Given the description of an element on the screen output the (x, y) to click on. 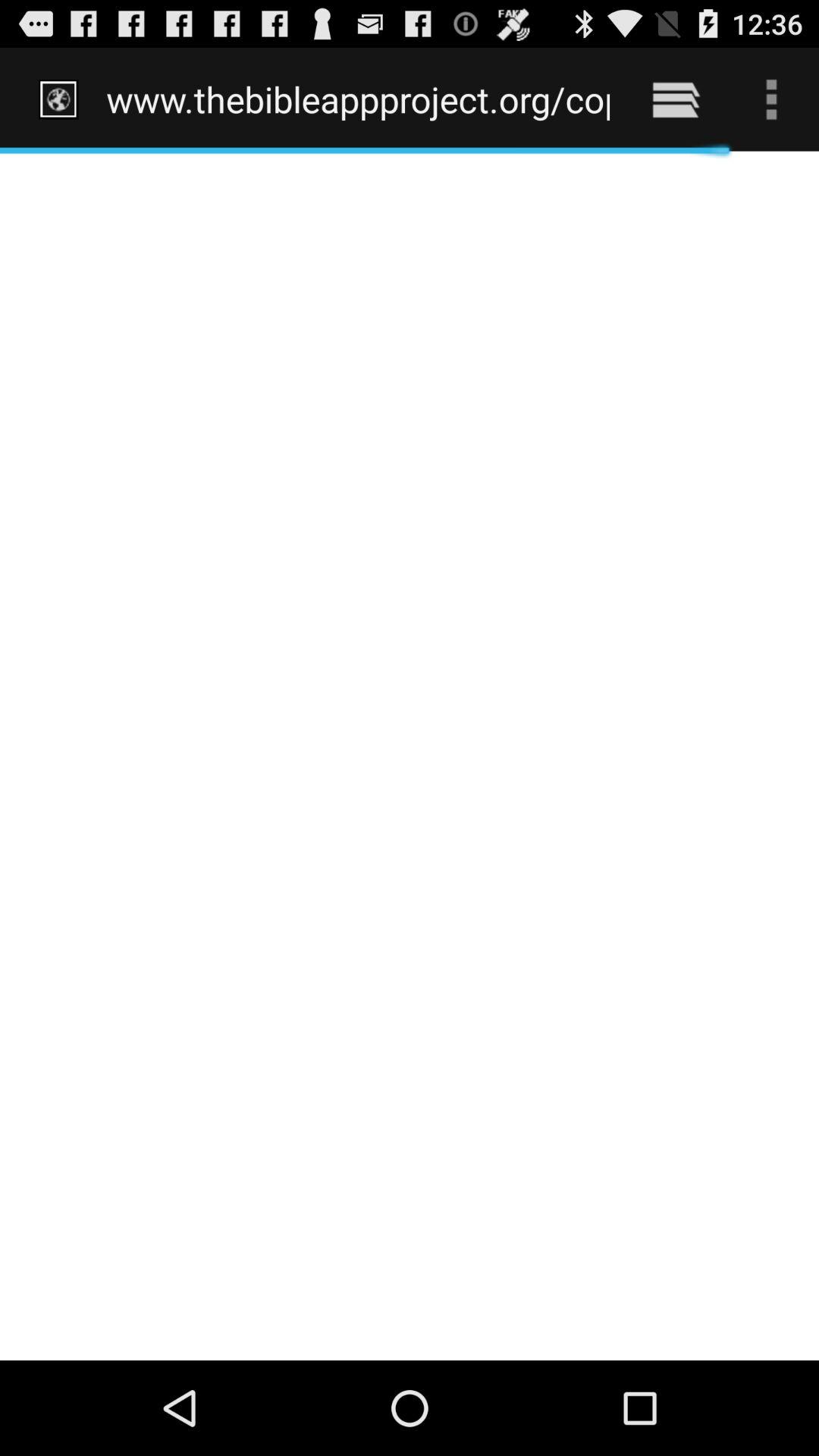
select the item next to the www thebibleappproject org icon (675, 99)
